Given the description of an element on the screen output the (x, y) to click on. 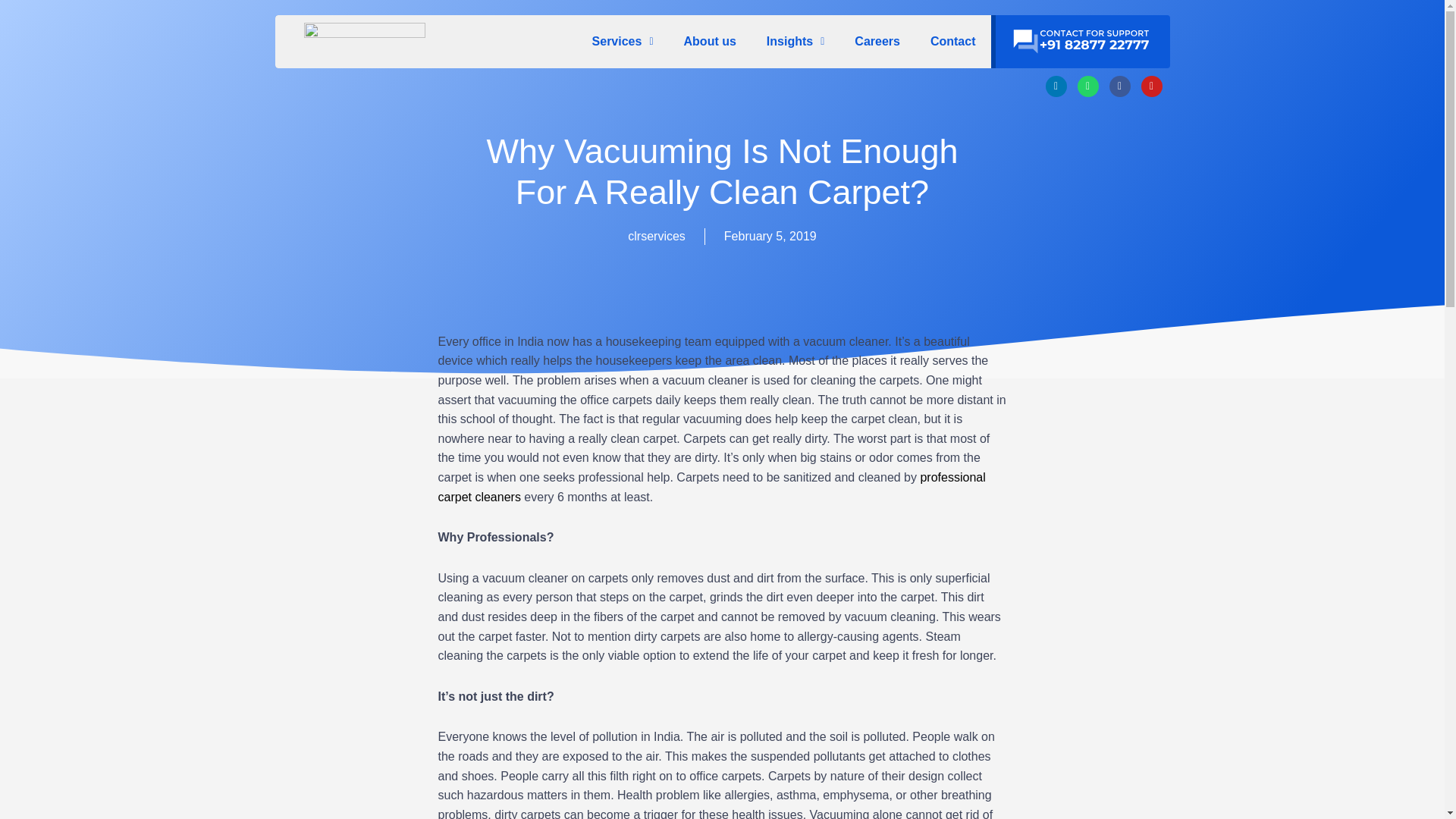
Linkedin (1055, 86)
professional carpet cleaners (711, 486)
About us (709, 41)
February 5, 2019 (769, 236)
Contact (953, 41)
Whatsapp (1087, 86)
Services (622, 41)
Insights (795, 41)
Youtube (1150, 86)
Careers (877, 41)
clrservices (656, 236)
Facebook (1118, 86)
